Given the description of an element on the screen output the (x, y) to click on. 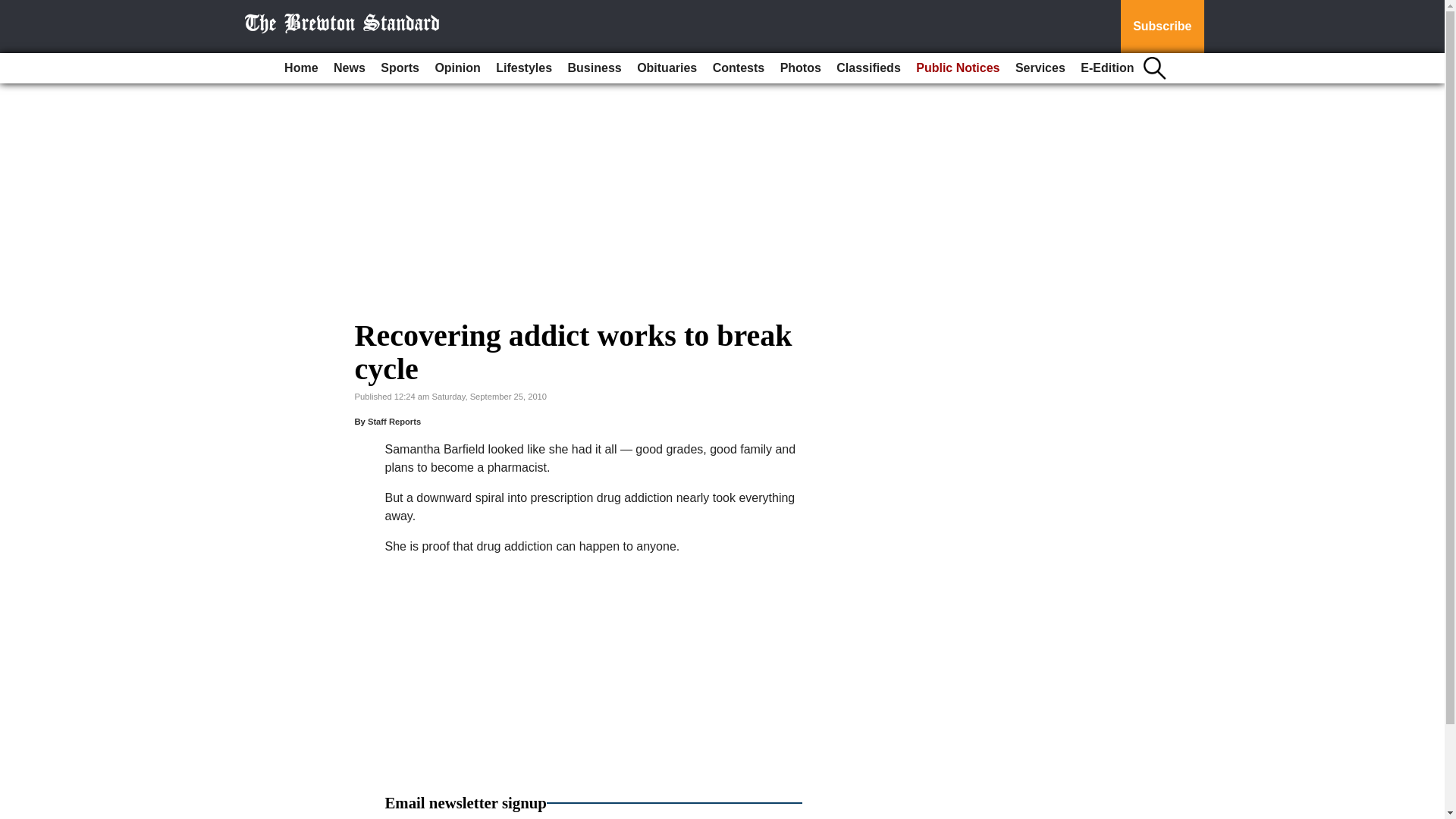
Go (13, 9)
Subscribe (1162, 26)
Contests (738, 68)
News (349, 68)
Public Notices (958, 68)
Obituaries (666, 68)
Services (1040, 68)
Lifestyles (523, 68)
Sports (399, 68)
Opinion (457, 68)
Home (300, 68)
E-Edition (1107, 68)
Business (594, 68)
Staff Reports (394, 420)
Classifieds (867, 68)
